Given the description of an element on the screen output the (x, y) to click on. 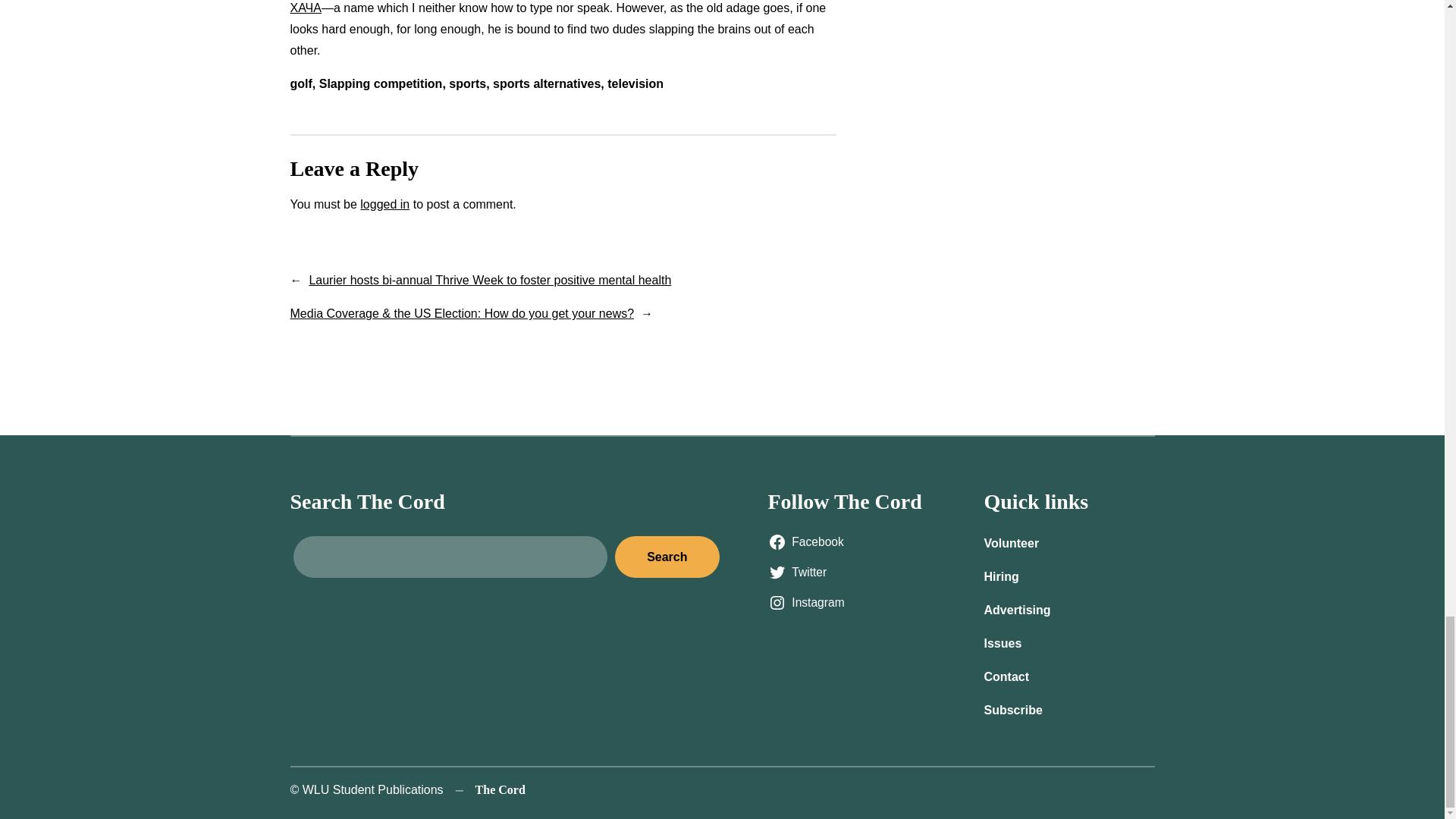
television (635, 83)
sports alternatives (546, 83)
golf (300, 83)
sports (467, 83)
Slapping competition (380, 83)
